Given the description of an element on the screen output the (x, y) to click on. 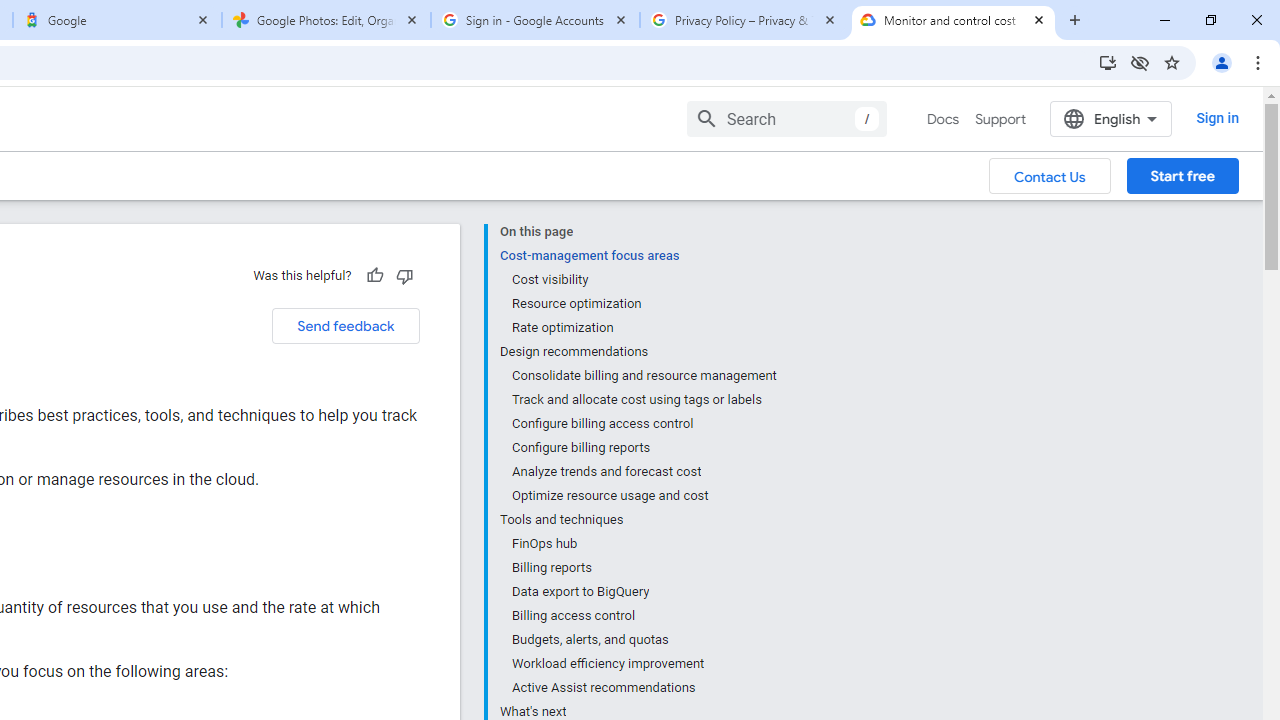
Not helpful (404, 275)
Send feedback (345, 326)
Docs, selected (942, 119)
Active Assist recommendations (643, 687)
Contact Us (1050, 175)
Google (116, 20)
Billing reports (643, 567)
Consolidate billing and resource management (643, 376)
Billing access control (643, 615)
Budgets, alerts, and quotas (643, 639)
FinOps hub (643, 543)
Tools and techniques (637, 520)
Support (1000, 119)
